Given the description of an element on the screen output the (x, y) to click on. 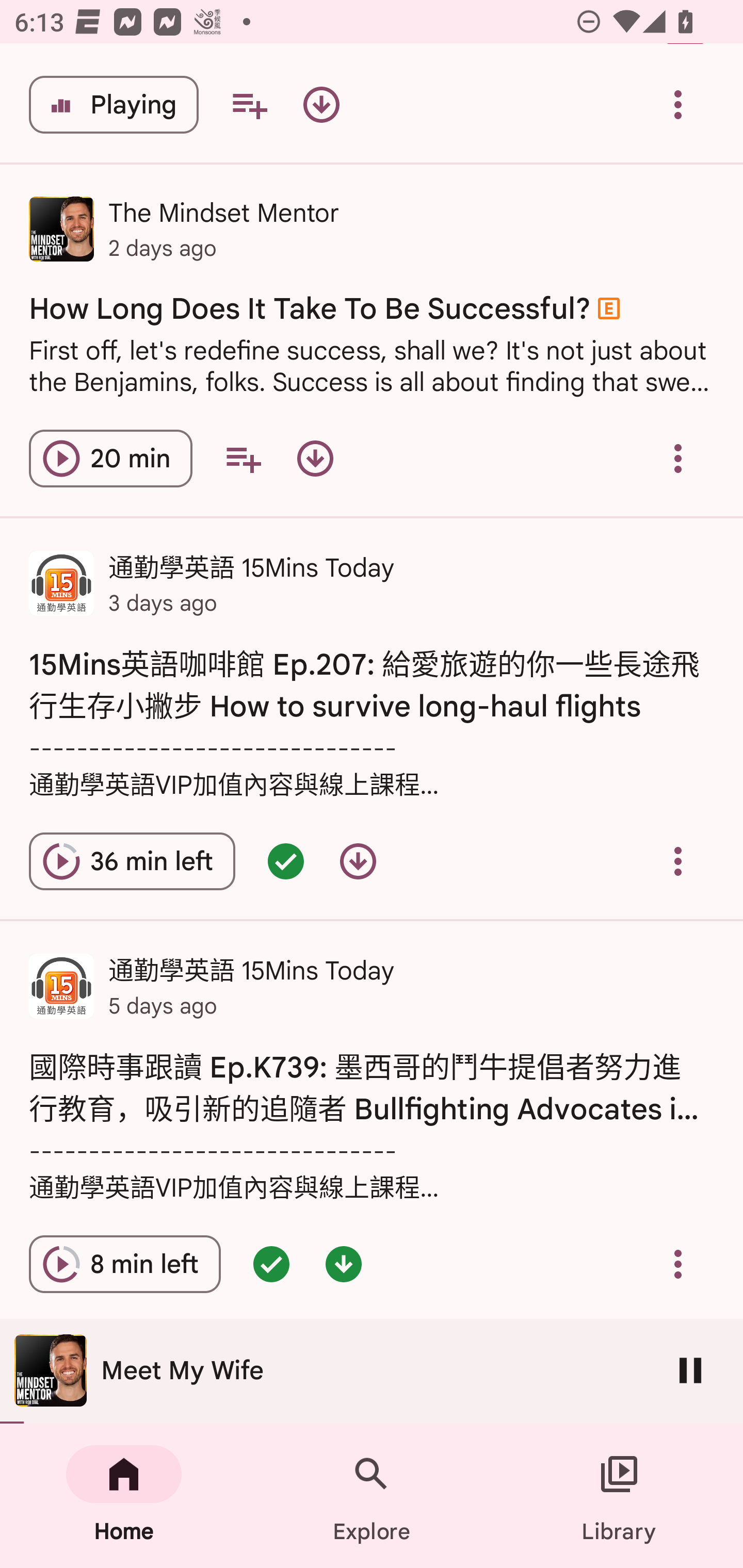
Pause episode Meet My Wife Playing (113, 104)
Add to your queue (249, 104)
Download episode (321, 104)
Overflow menu (677, 104)
Add to your queue (242, 458)
Download episode (315, 458)
Overflow menu (677, 458)
Episode queued - double tap for options (285, 861)
Download episode (357, 861)
Overflow menu (677, 861)
Episode queued - double tap for options (271, 1264)
Episode downloaded - double tap for options (343, 1264)
Overflow menu (677, 1264)
通勤學英語 15Mins Today 通勤學英語 15Mins Today Mar 1 (371, 1373)
Pause (690, 1370)
Explore (371, 1495)
Library (619, 1495)
